Given the description of an element on the screen output the (x, y) to click on. 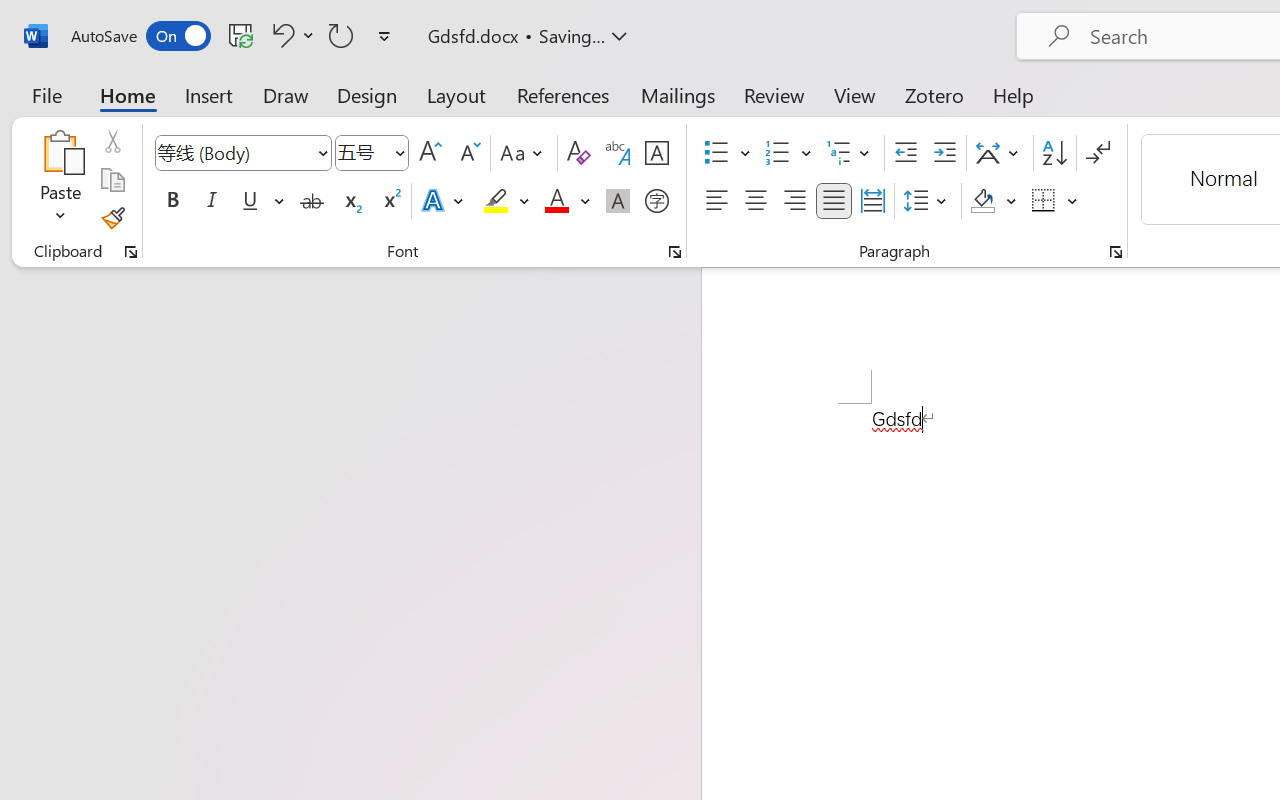
Align Left (716, 201)
Distributed (872, 201)
Center (756, 201)
Justify (834, 201)
Decrease Indent (906, 153)
Font... (675, 252)
Increase Indent (944, 153)
Undo Style (290, 35)
